Given the description of an element on the screen output the (x, y) to click on. 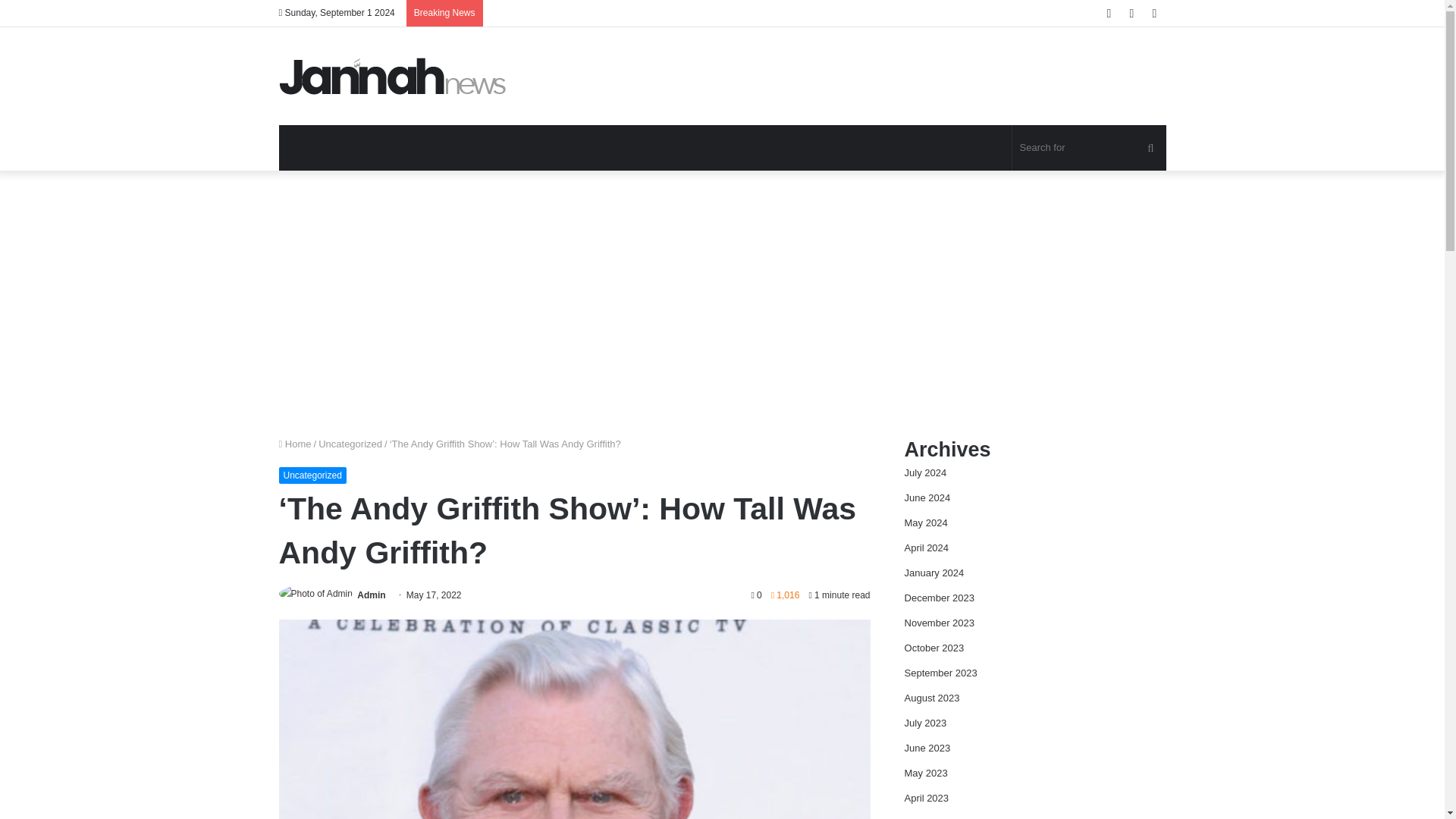
Admin (370, 594)
Admin (370, 594)
Search for (1088, 147)
Home (295, 443)
Uncategorized (312, 475)
Uncategorized (349, 443)
Movie News (392, 76)
